Given the description of an element on the screen output the (x, y) to click on. 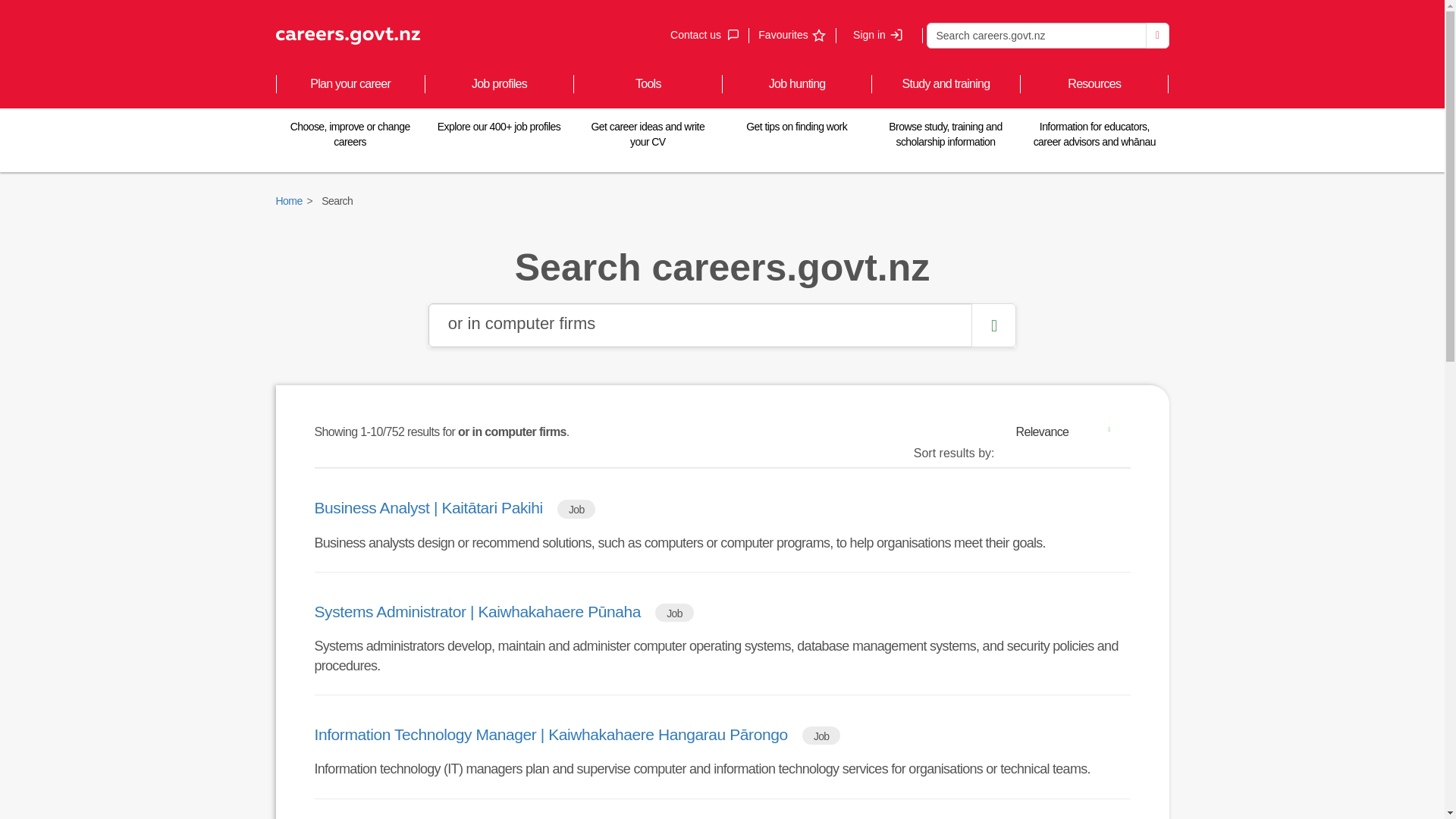
Search (1157, 35)
Sign in (878, 35)
Favourites (791, 35)
or in computer firms (700, 325)
Search (1036, 35)
Relevance (704, 35)
